Given the description of an element on the screen output the (x, y) to click on. 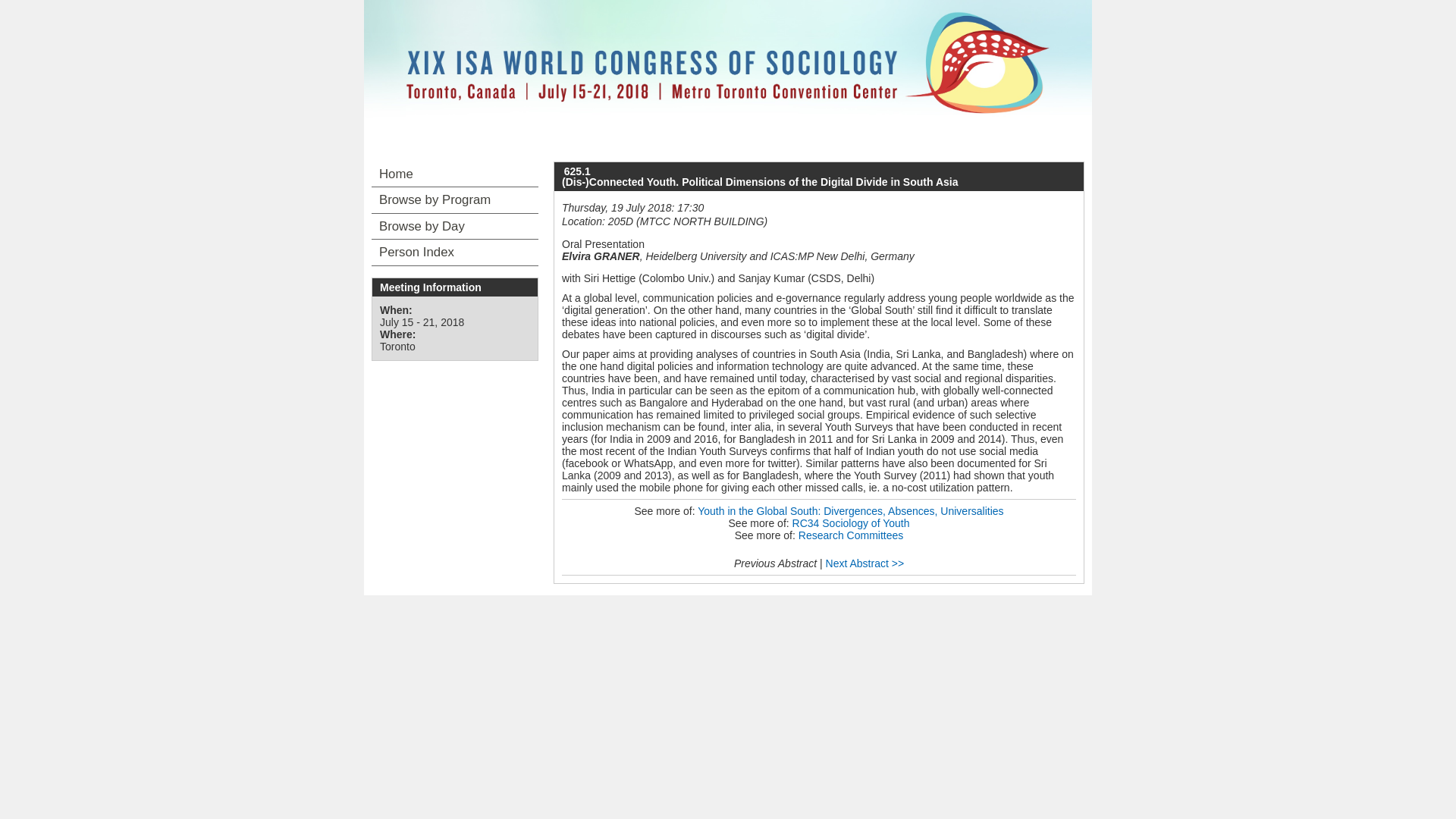
Browse by Day (454, 226)
Person Index (454, 252)
Research Committees (850, 535)
RC34 Sociology of Youth (851, 522)
Browse by Program (454, 199)
Home (454, 174)
